Given the description of an element on the screen output the (x, y) to click on. 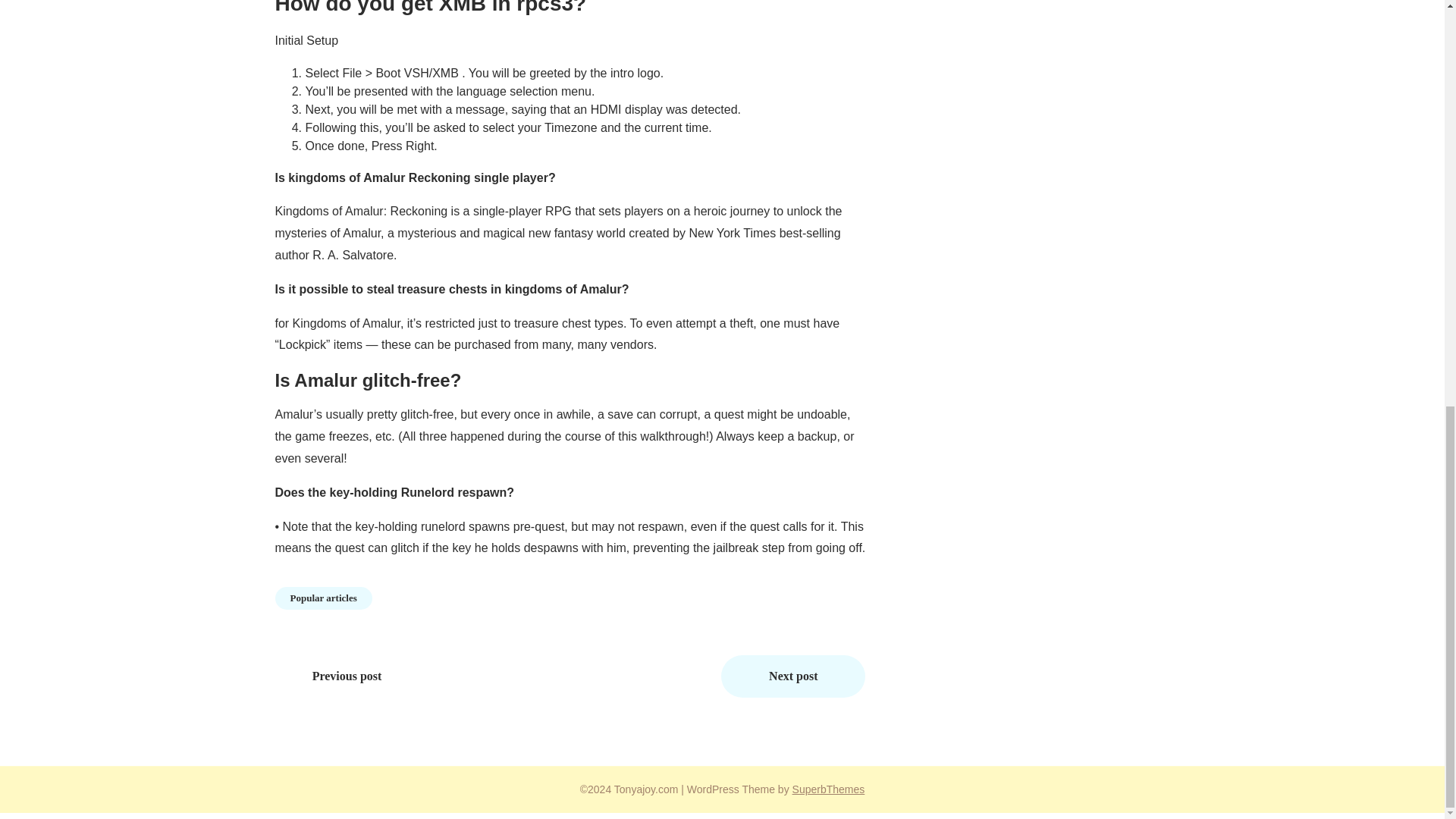
SuperbThemes (828, 788)
Popular articles (323, 598)
Previous post (347, 676)
Next post (792, 676)
